Given the description of an element on the screen output the (x, y) to click on. 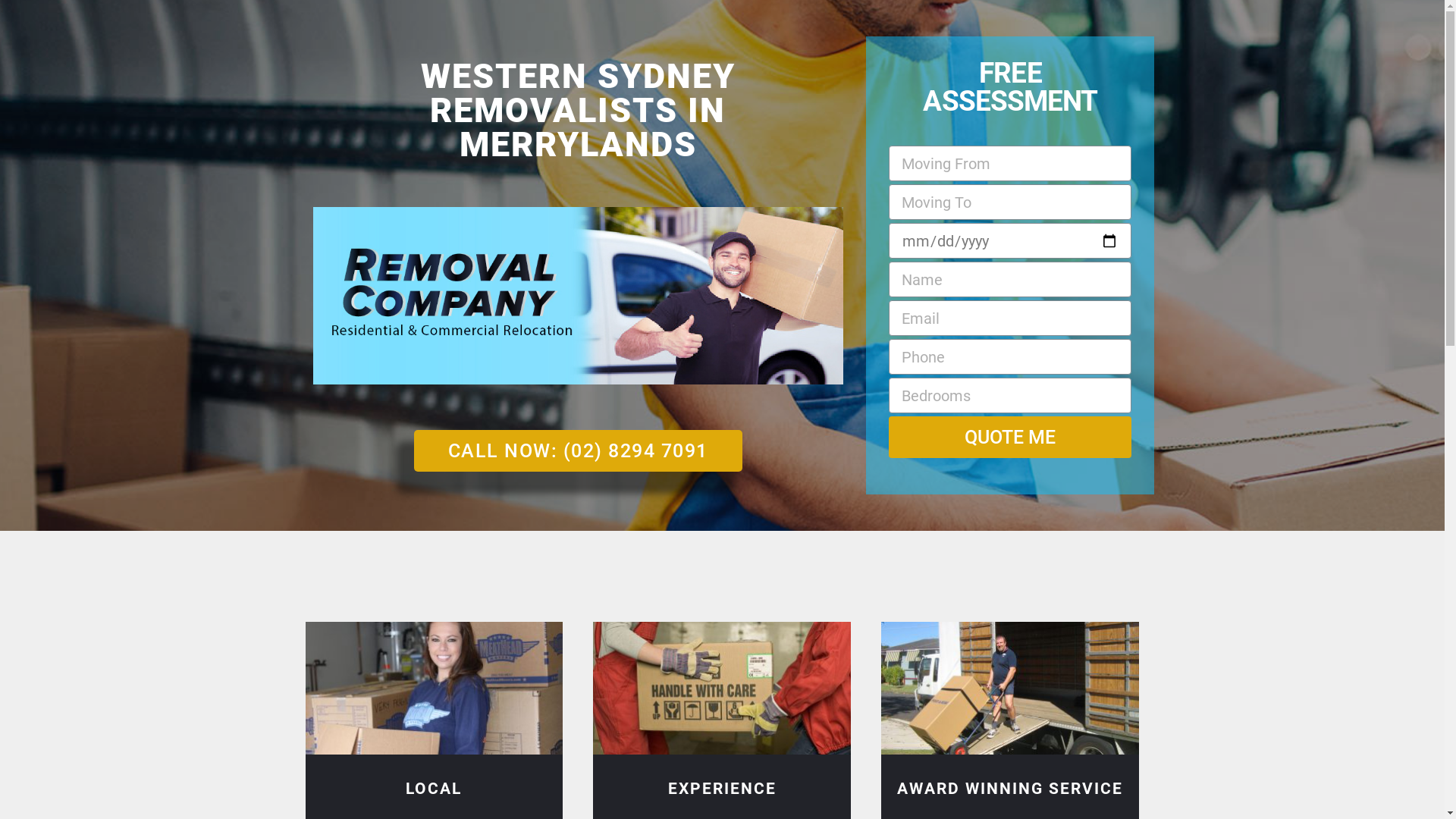
QUOTE ME Element type: text (1009, 437)
Experienced Removalists Merrylands Element type: hover (721, 687)
Award Winning Merrylands Removal Services Element type: hover (1010, 687)
Local Removalists Merrylands Element type: hover (433, 687)
CALL NOW: (02) 8294 7091 Element type: text (578, 450)
